Given the description of an element on the screen output the (x, y) to click on. 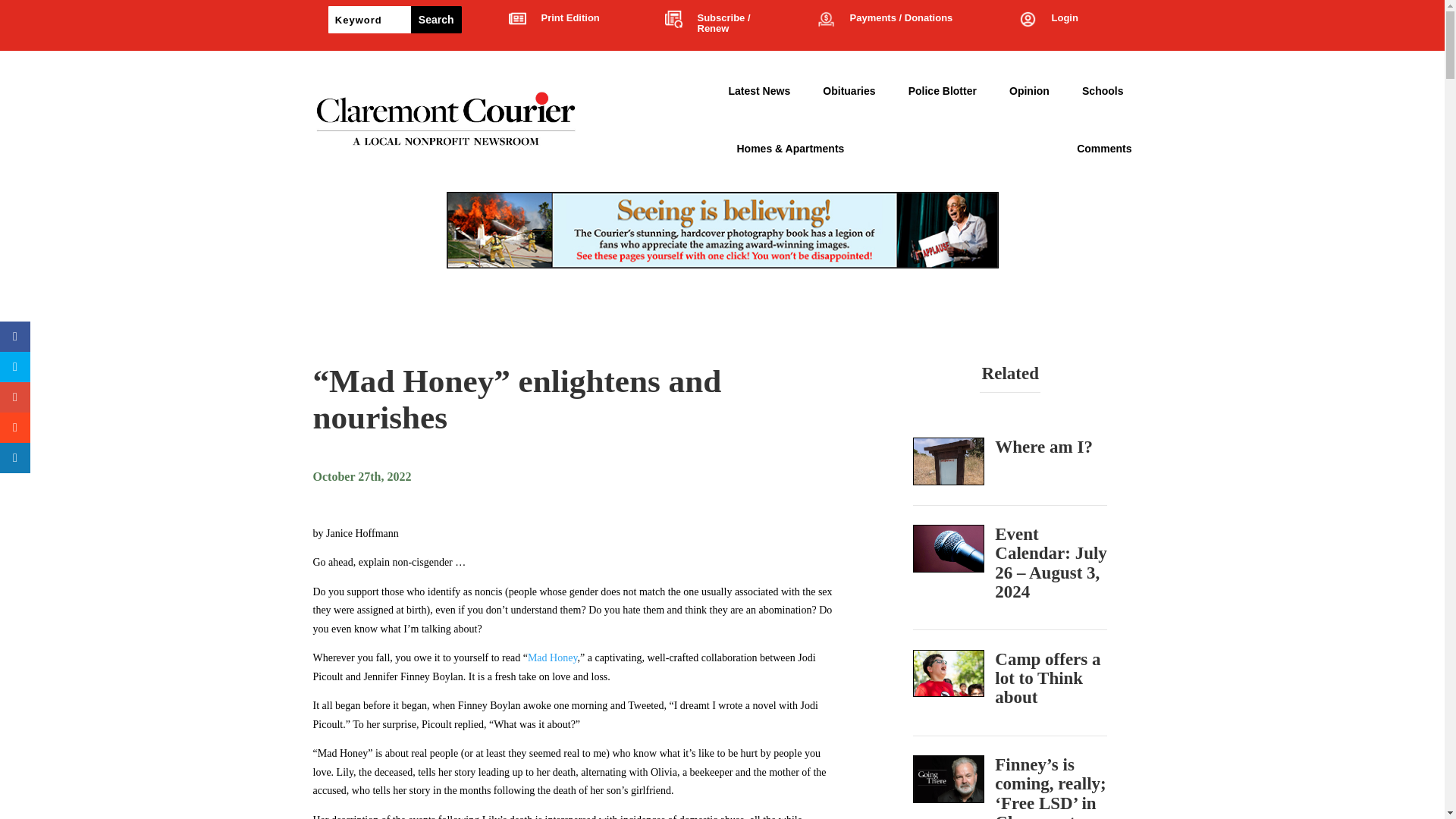
aa.Project-Thinkers-5.WEB (949, 673)
Comments (1104, 148)
Search (435, 19)
Latest News (759, 90)
Where AM I WEB (949, 461)
Police Blotter (942, 90)
Obituaries (848, 90)
Search (435, 19)
Search (435, 19)
Mick-web-Layout (949, 778)
